Given the description of an element on the screen output the (x, y) to click on. 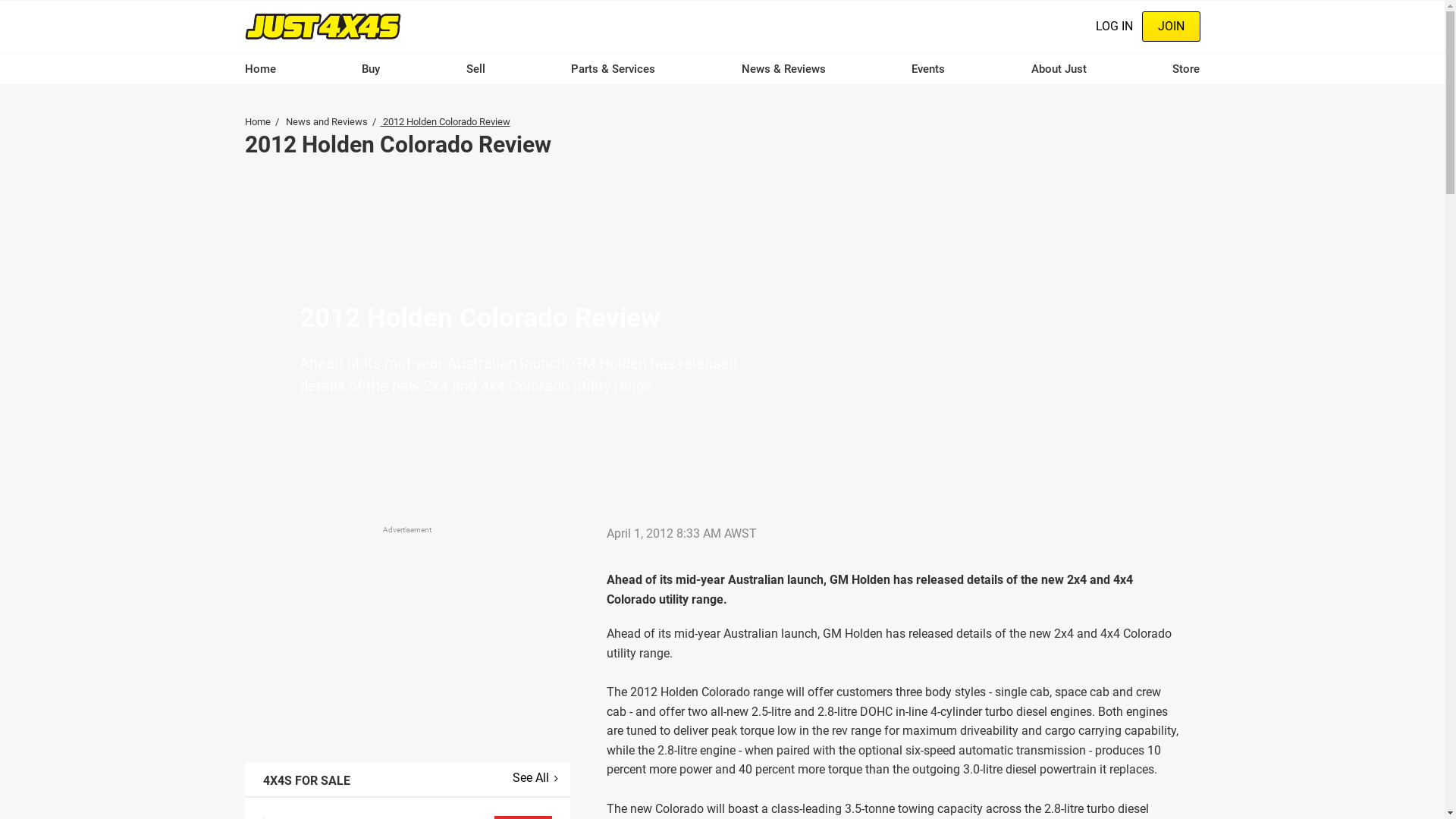
JOIN Element type: text (1171, 26)
About Just Element type: text (1058, 68)
LOG IN Element type: text (1113, 26)
Home Element type: hover (322, 25)
Skip to main content Element type: text (0, 0)
News & Reviews Element type: text (783, 68)
See All Element type: text (535, 777)
Store Element type: text (1185, 68)
Parts & Services Element type: text (613, 68)
Home Element type: text (256, 121)
Buy Element type: text (370, 68)
News and Reviews Element type: text (326, 121)
Sell Element type: text (475, 68)
Events Element type: text (927, 68)
Home Element type: text (259, 68)
